Given the description of an element on the screen output the (x, y) to click on. 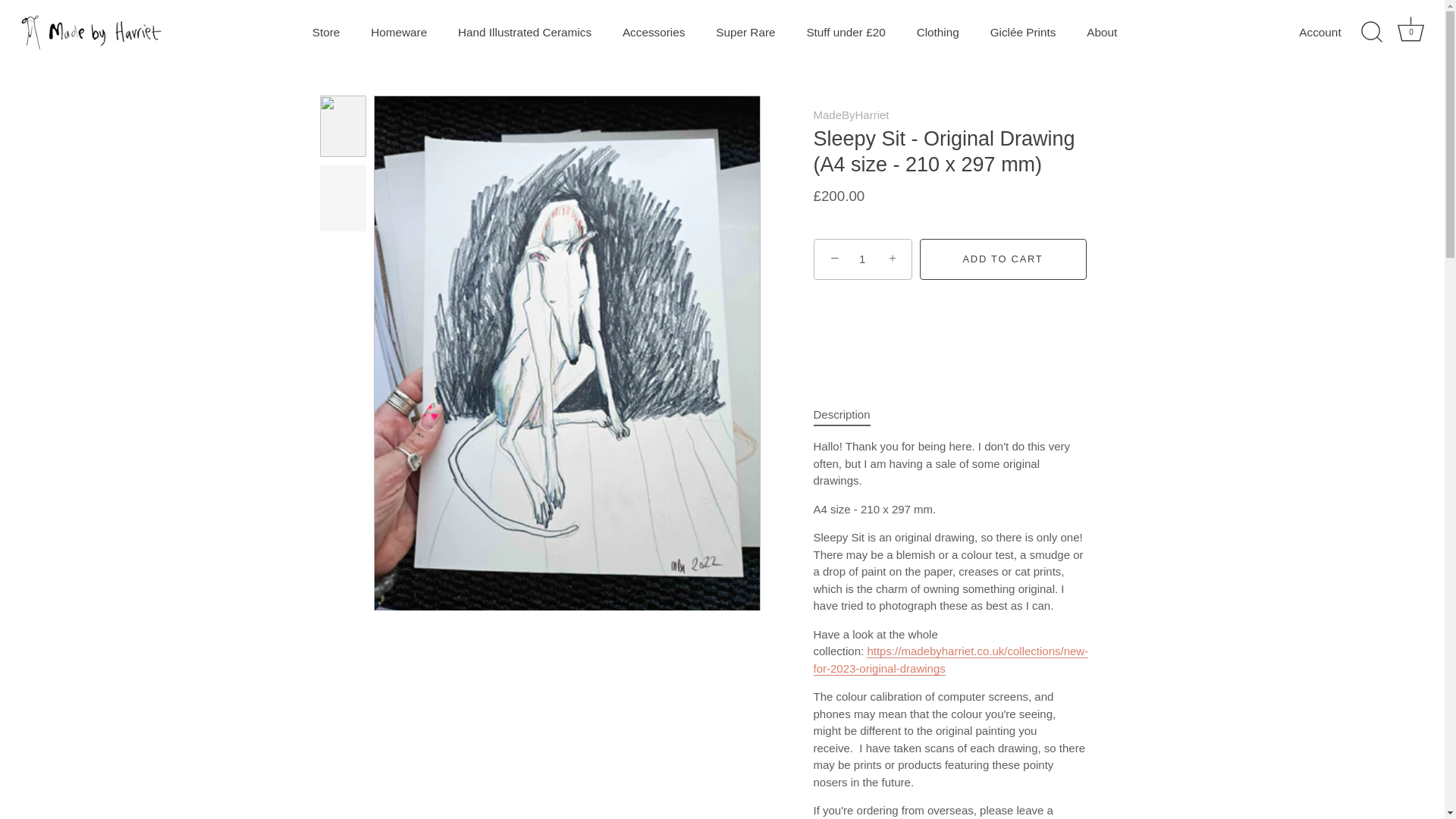
Store (325, 32)
Super Rare (745, 32)
Cart (1410, 28)
Hand Illustrated Ceramics (524, 32)
Accessories (653, 32)
Made by Harriet, Original Drawings (949, 659)
Homeware (398, 32)
